Given the description of an element on the screen output the (x, y) to click on. 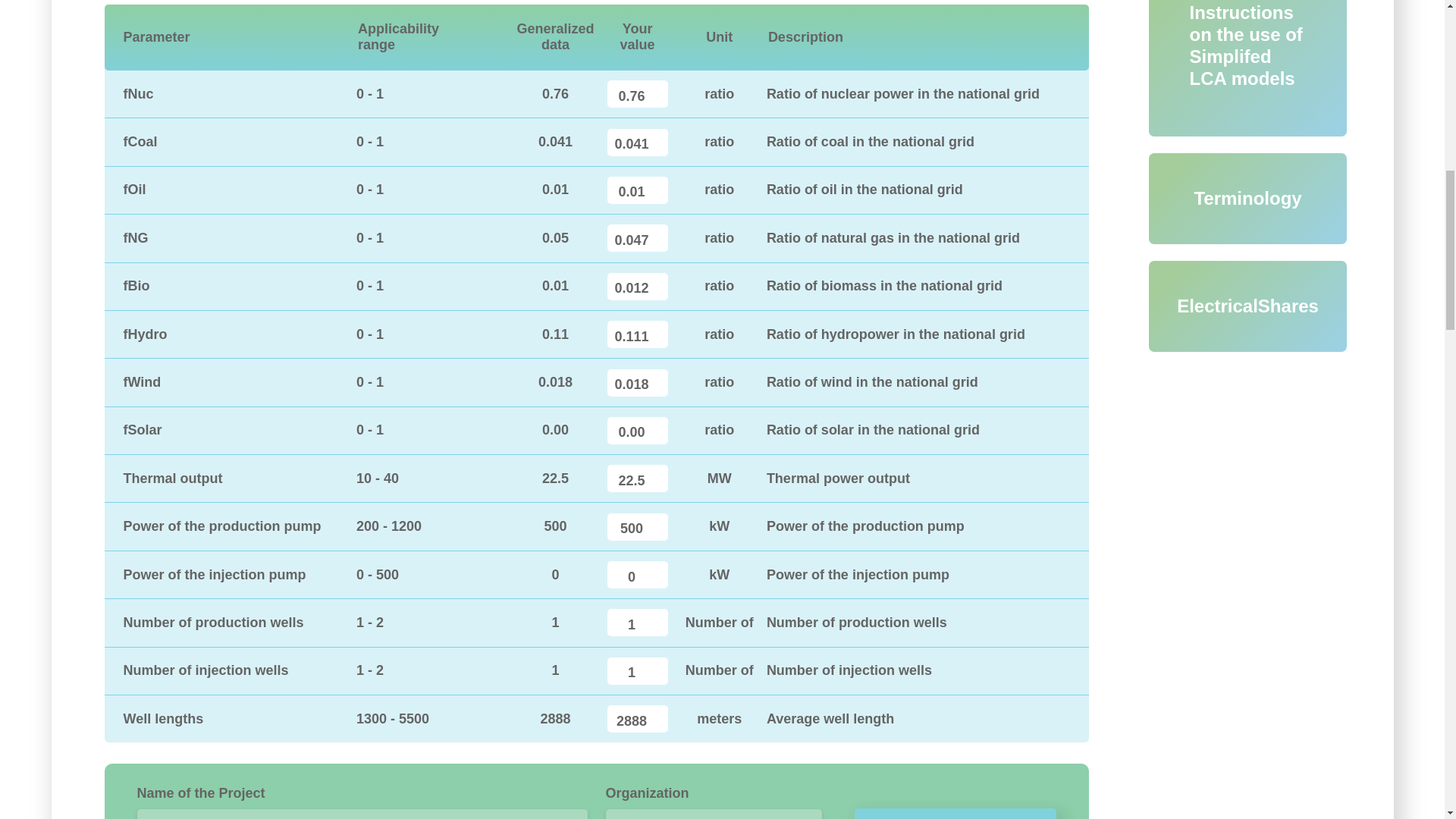
22.5 (637, 478)
1 (637, 622)
2888 (637, 718)
0.111 (637, 334)
0.01 (637, 189)
0.00 (637, 430)
500 (637, 526)
0.047 (637, 237)
0.76 (637, 93)
0 (637, 574)
0.018 (637, 381)
0.041 (637, 142)
1 (637, 670)
Generate Result (955, 813)
0.012 (637, 286)
